Given the description of an element on the screen output the (x, y) to click on. 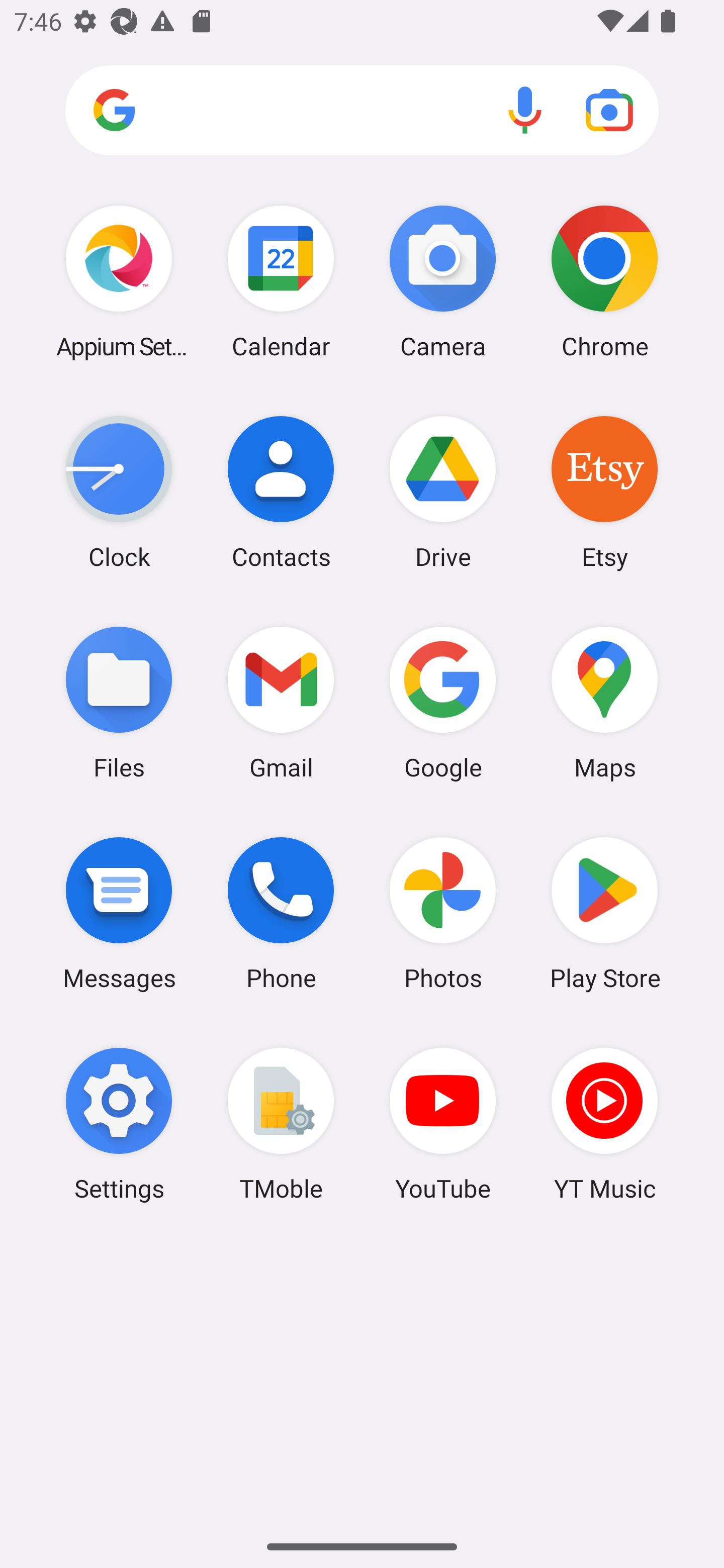
Search apps, web and more (361, 110)
Voice search (524, 109)
Google Lens (608, 109)
Appium Settings (118, 281)
Calendar (280, 281)
Camera (443, 281)
Chrome (604, 281)
Clock (118, 492)
Contacts (280, 492)
Drive (443, 492)
Etsy (604, 492)
Files (118, 702)
Gmail (280, 702)
Google (443, 702)
Maps (604, 702)
Messages (118, 913)
Phone (280, 913)
Photos (443, 913)
Play Store (604, 913)
Settings (118, 1124)
TMoble (280, 1124)
YouTube (443, 1124)
YT Music (604, 1124)
